Given the description of an element on the screen output the (x, y) to click on. 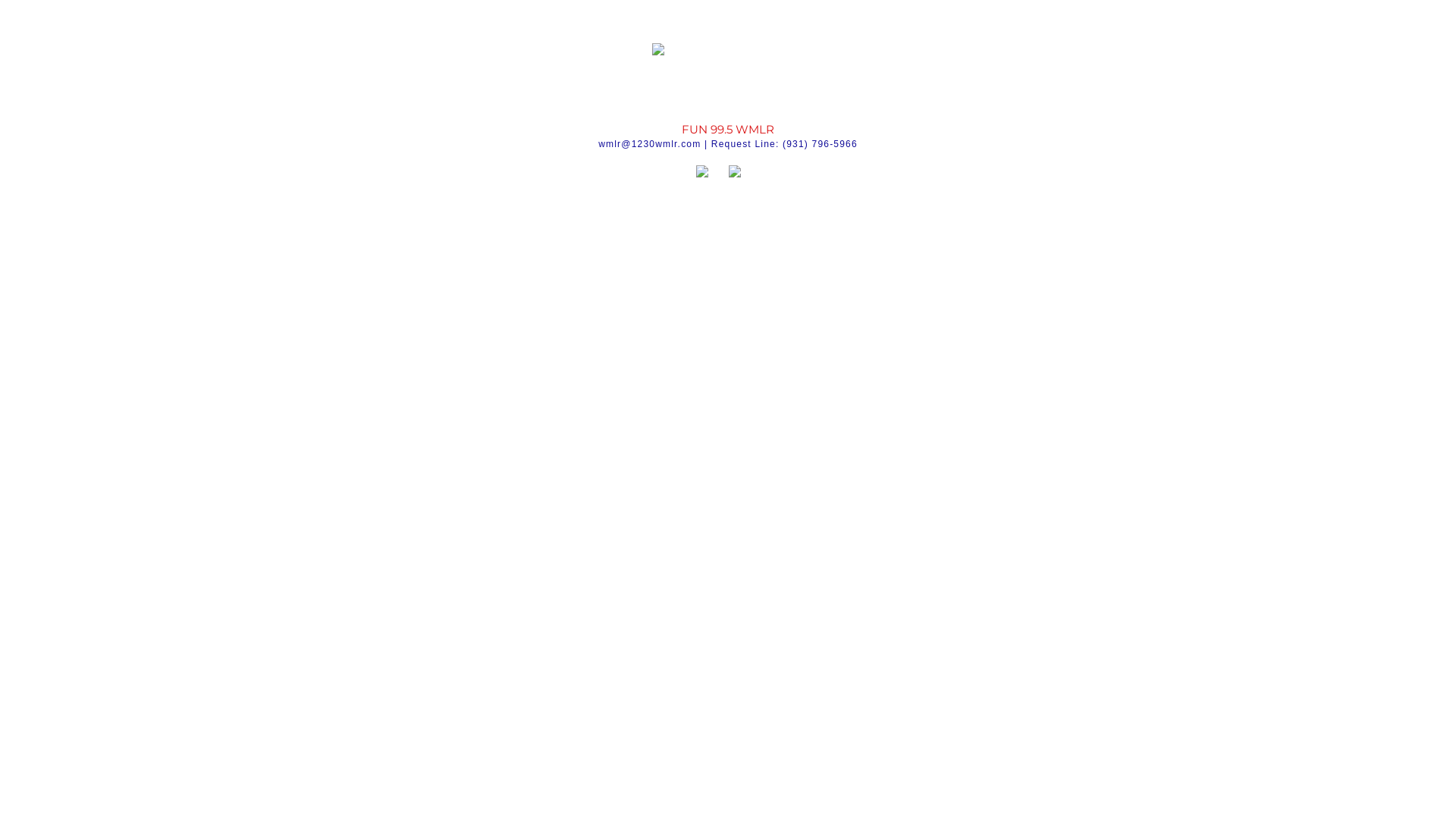
wmlr@1230wmlr.com | Request Line: (931) 796-5966 Element type: text (727, 143)
